Given the description of an element on the screen output the (x, y) to click on. 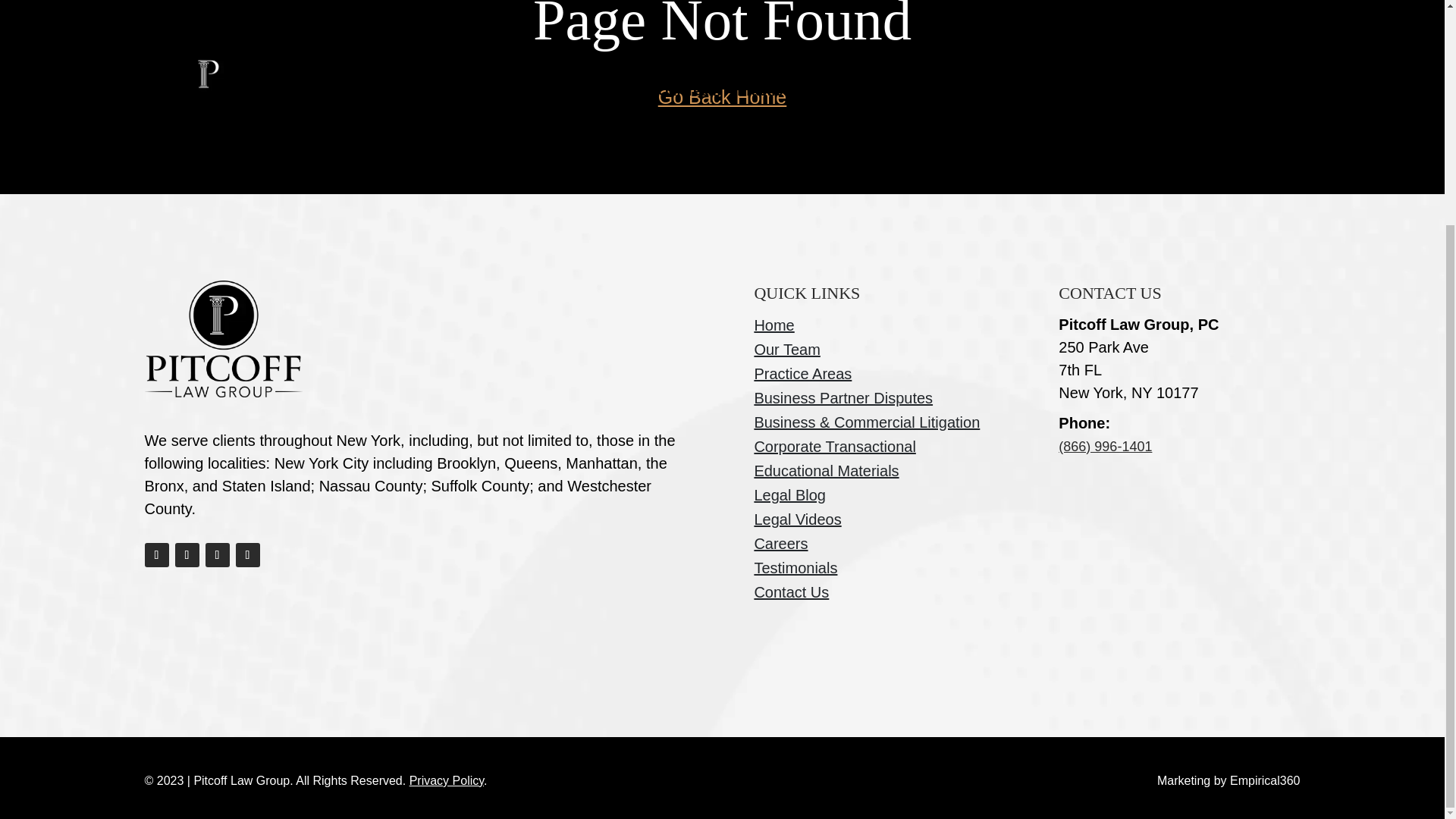
Follow on Instagram (186, 554)
Follow on Youtube (216, 554)
Follow on X (246, 554)
Follow on Facebook (156, 554)
